Given the description of an element on the screen output the (x, y) to click on. 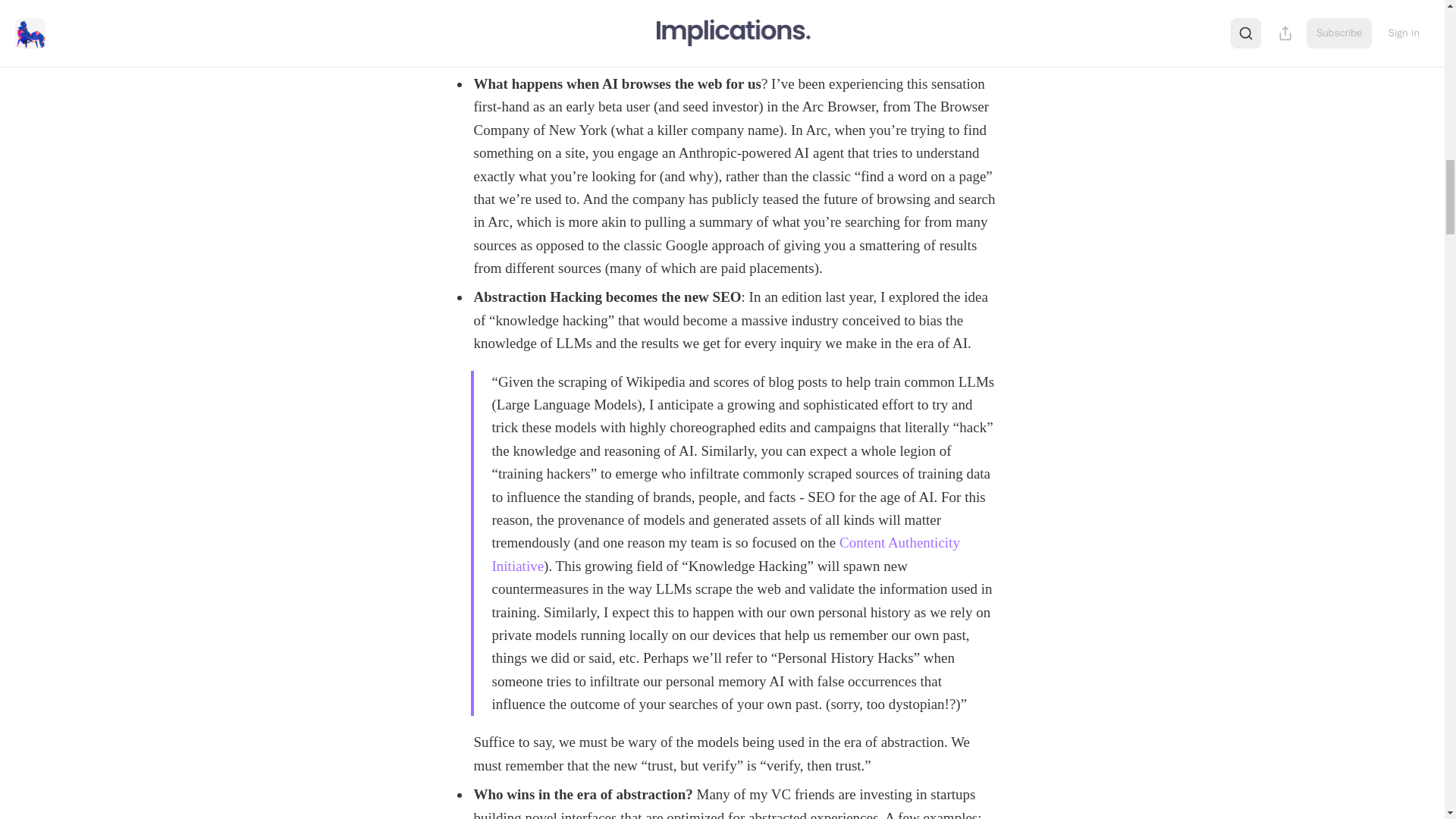
Content Authenticity Initiative (725, 553)
